Given the description of an element on the screen output the (x, y) to click on. 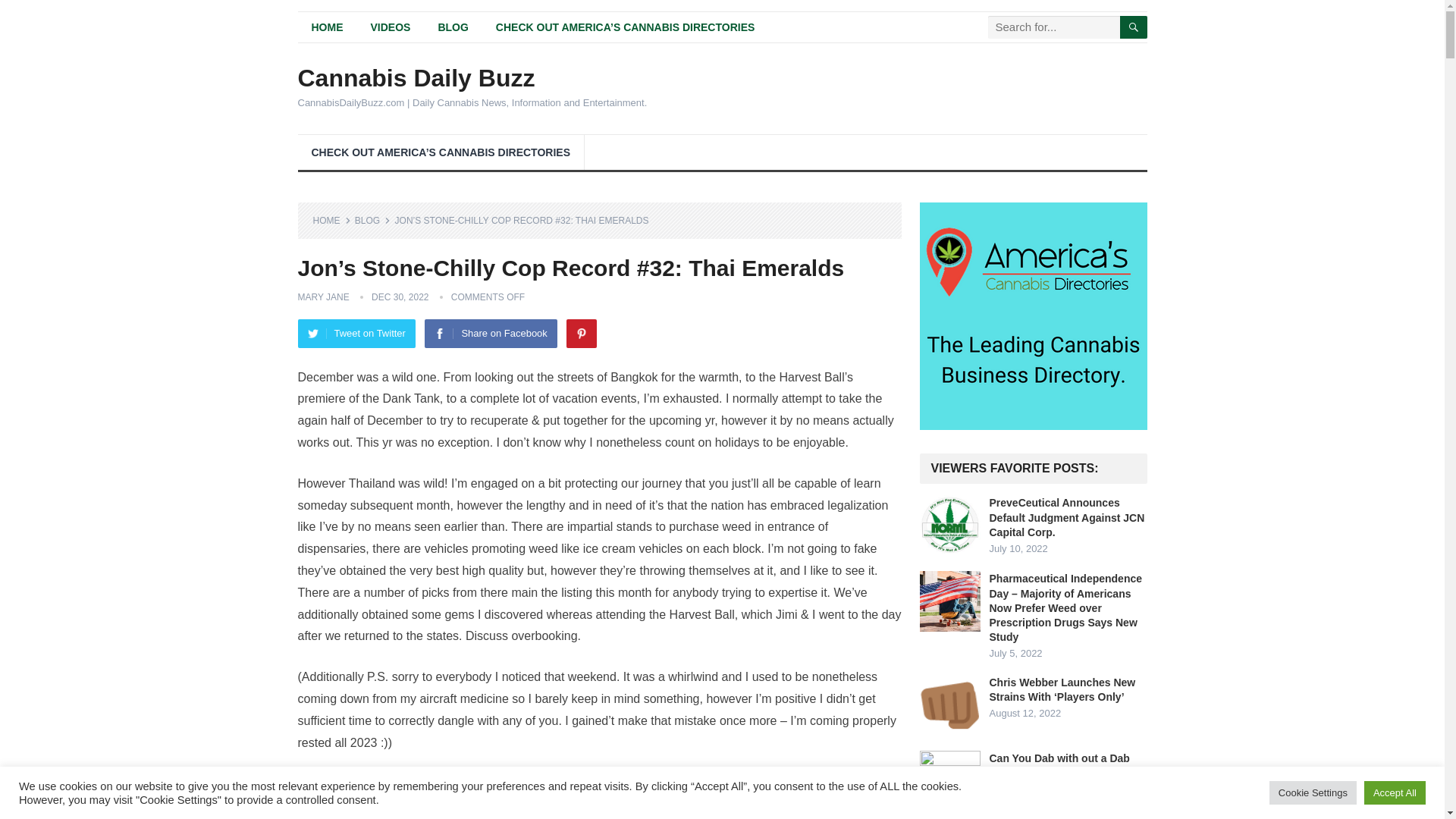
BLOG (452, 27)
Tweet on Twitter (355, 333)
HOME (326, 27)
Pinterest (581, 333)
Cannabis Daily Buzz (471, 78)
BLOG (372, 220)
VIDEOS (389, 27)
HOME (331, 220)
Posts by Mary Jane (323, 296)
View all posts in Blog (372, 220)
Share on Facebook (490, 333)
MARY JANE (323, 296)
